Given the description of an element on the screen output the (x, y) to click on. 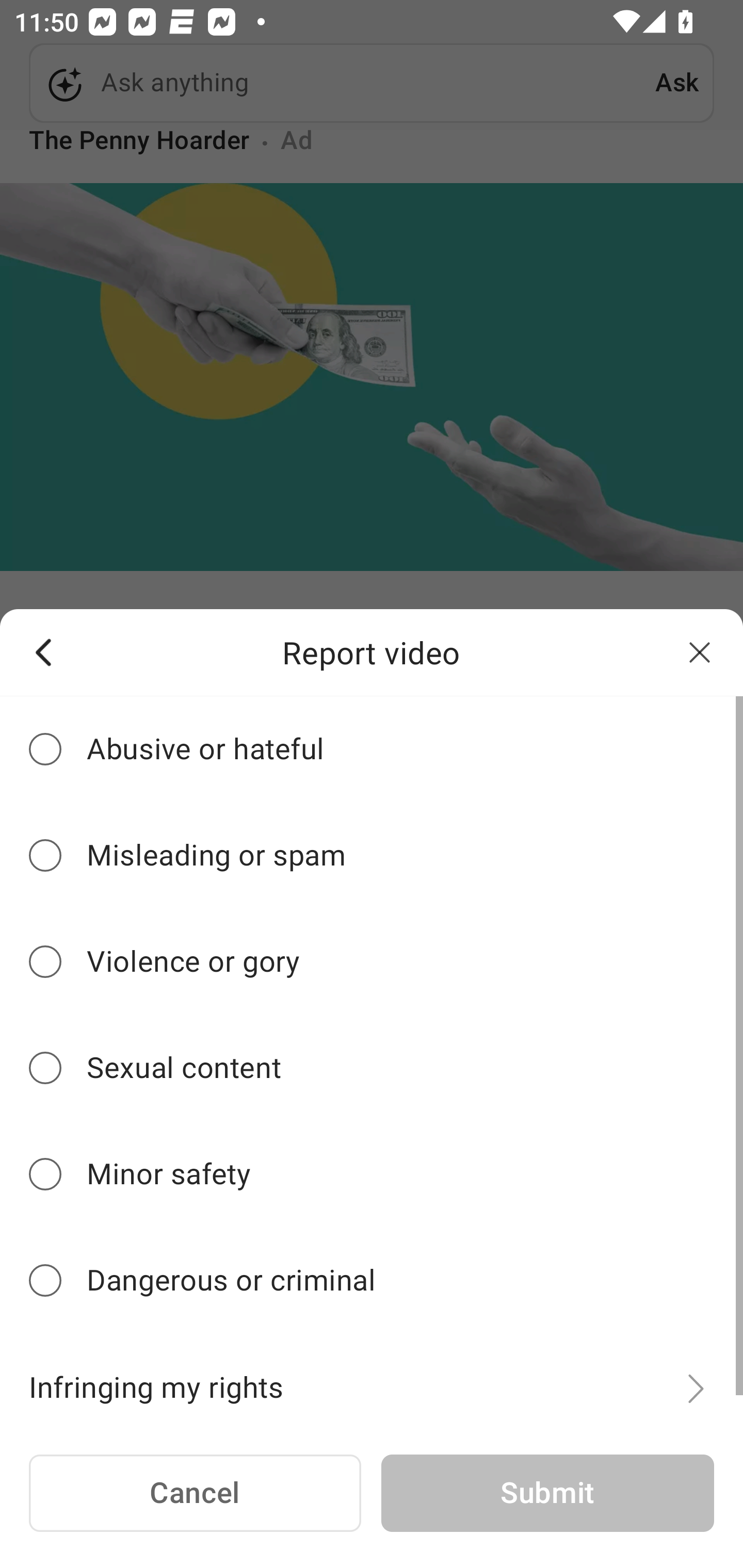
Abusive or hateful (371, 749)
Misleading or spam (371, 855)
Violence or gory (371, 961)
Sexual content (371, 1067)
Minor safety (371, 1174)
Dangerous or criminal (371, 1280)
Infringing my rights (371, 1376)
Cancel (194, 1493)
Submit (547, 1493)
